Given the description of an element on the screen output the (x, y) to click on. 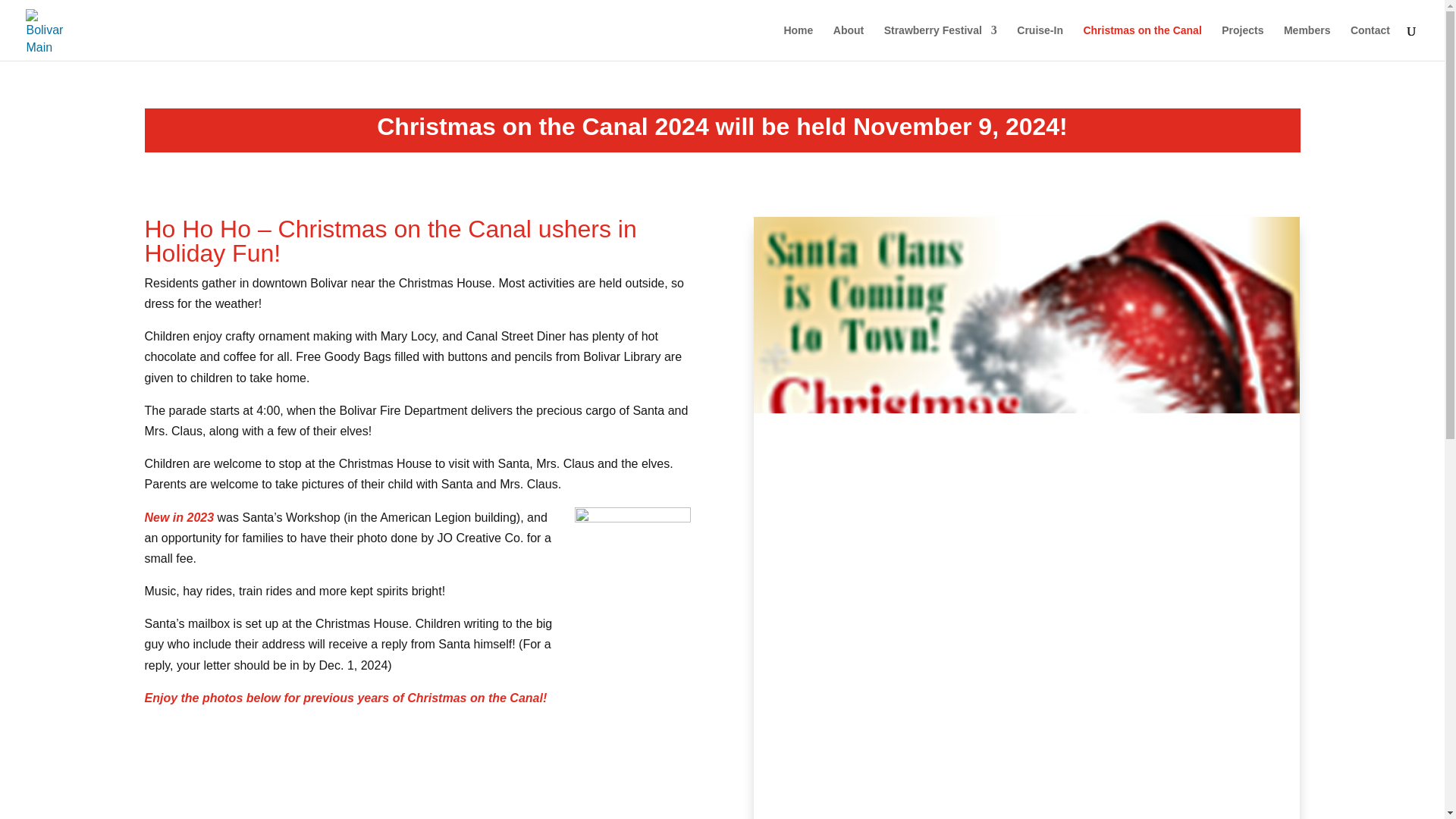
Members (1307, 42)
Cruise-In (1039, 42)
Strawberry Festival (940, 42)
Contact (1370, 42)
Christmas on the Canal (1142, 42)
Projects (1242, 42)
